Given the description of an element on the screen output the (x, y) to click on. 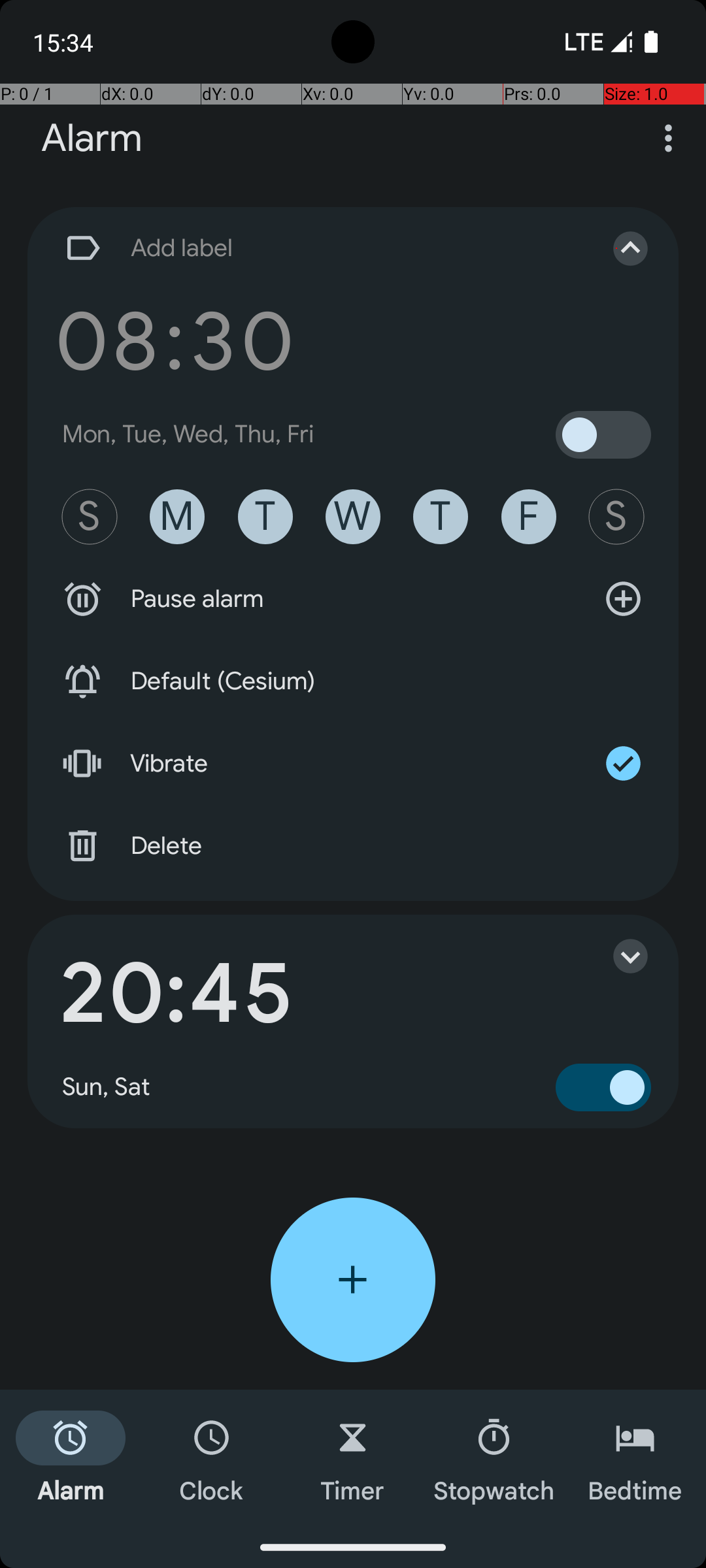
Add alarm Element type: android.widget.Button (352, 1279)
Add label Element type: android.widget.TextView (318, 248)
Collapse alarm Element type: android.widget.ImageButton (616, 248)
08:30 Element type: android.widget.TextView (174, 341)
Mon, Tue, Wed, Thu, Fri Element type: android.widget.TextView (187, 433)
S Element type: android.widget.CheckBox (89, 516)
M Element type: android.widget.CheckBox (176, 516)
T Element type: android.widget.CheckBox (265, 516)
W Element type: android.widget.CheckBox (352, 516)
F Element type: android.widget.CheckBox (528, 516)
Pause alarm Element type: android.widget.TextView (352, 598)
Default (Cesium) Element type: android.widget.TextView (352, 681)
Vibrate Element type: android.widget.CheckBox (352, 763)
20:45 Element type: android.widget.TextView (174, 993)
Expand alarm Element type: android.widget.ImageButton (616, 955)
Sun, Sat Element type: android.widget.TextView (106, 1086)
